Given the description of an element on the screen output the (x, y) to click on. 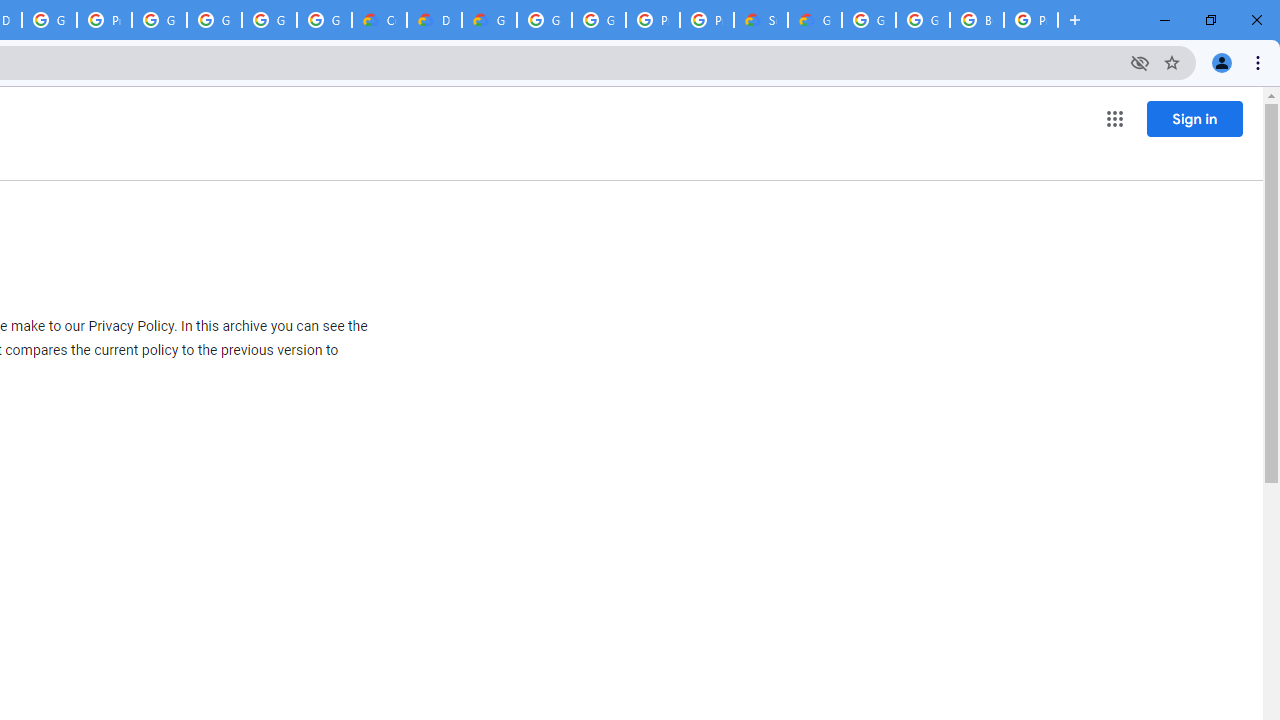
Google Cloud Platform (598, 20)
Customer Care | Google Cloud (379, 20)
Google Cloud Platform (544, 20)
Google Cloud Platform (922, 20)
Support Hub | Google Cloud (760, 20)
